Given the description of an element on the screen output the (x, y) to click on. 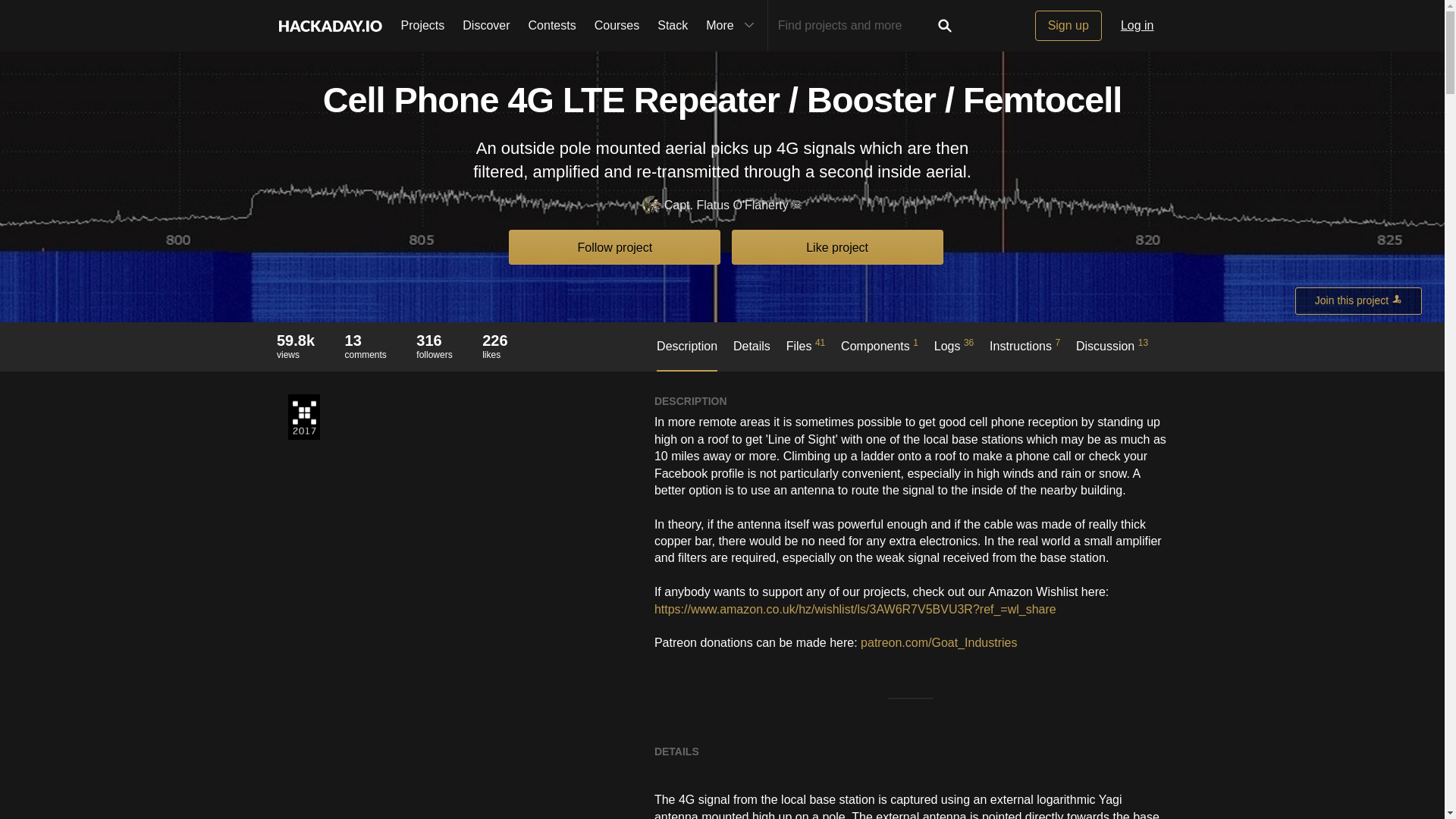
Discussion 13 (1111, 353)
Discover (366, 345)
View Count (485, 25)
Courses (433, 345)
Description (295, 340)
Like project (617, 25)
More (686, 354)
Details (837, 246)
Files 41 (732, 25)
Follow project (751, 354)
Comments (805, 353)
Likes (614, 246)
Stack (366, 340)
